Given the description of an element on the screen output the (x, y) to click on. 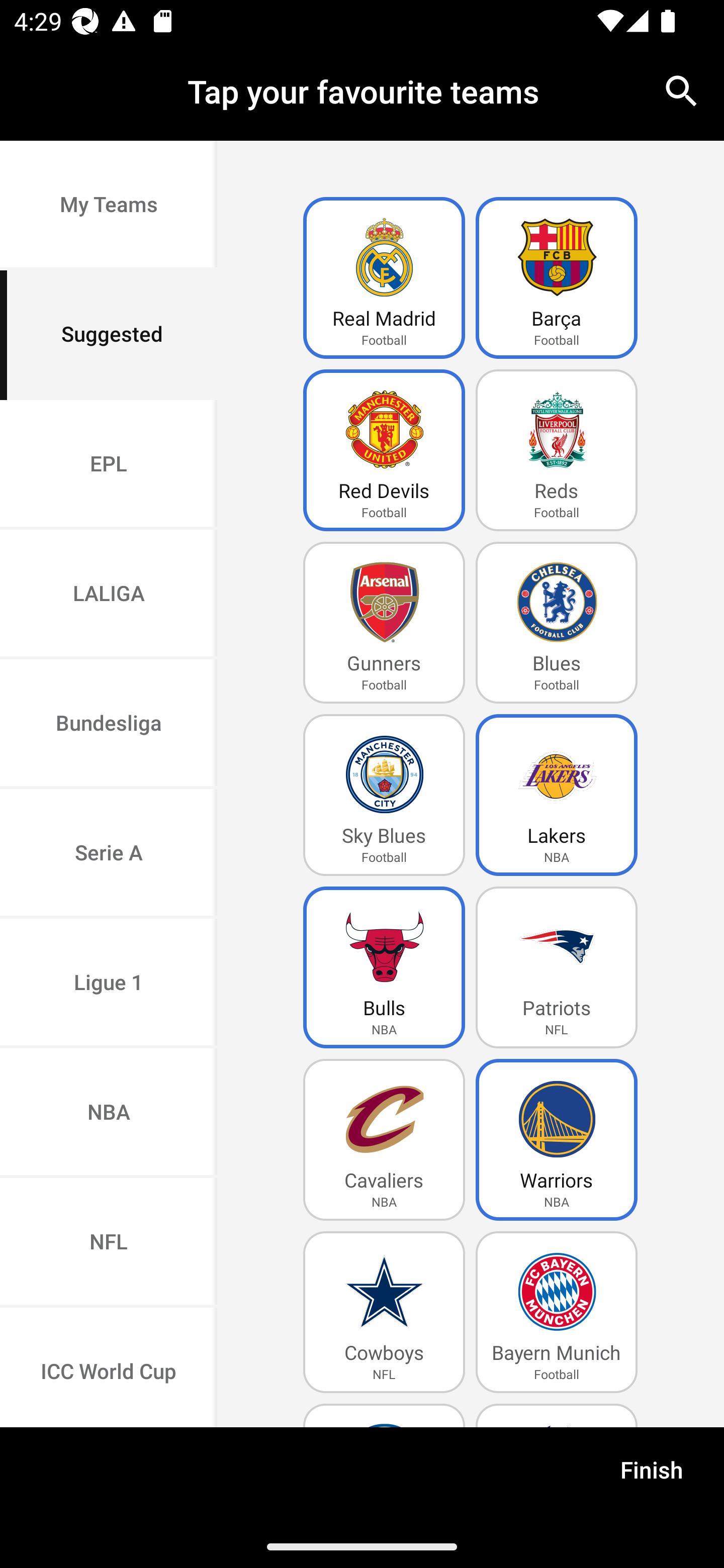
search (681, 90)
My Teams (108, 206)
Real Madrid Real MadridSelected Football (383, 278)
Barça BarçaSelected Football (556, 278)
Suggested (108, 334)
Red Devils Red DevilsSelected Football (383, 450)
Reds Reds Football (556, 450)
EPL (108, 464)
LALIGA (108, 594)
Gunners Gunners Football (383, 623)
Blues Blues Football (556, 623)
Bundesliga (108, 725)
Sky Blues Sky Blues Football (383, 794)
Lakers LakersSelected NBA (556, 794)
Serie A (108, 853)
Bulls BullsSelected NBA (383, 966)
Patriots Patriots NFL (556, 966)
Ligue 1 (108, 983)
NBA (108, 1113)
Cavaliers Cavaliers NBA (383, 1139)
